Given the description of an element on the screen output the (x, y) to click on. 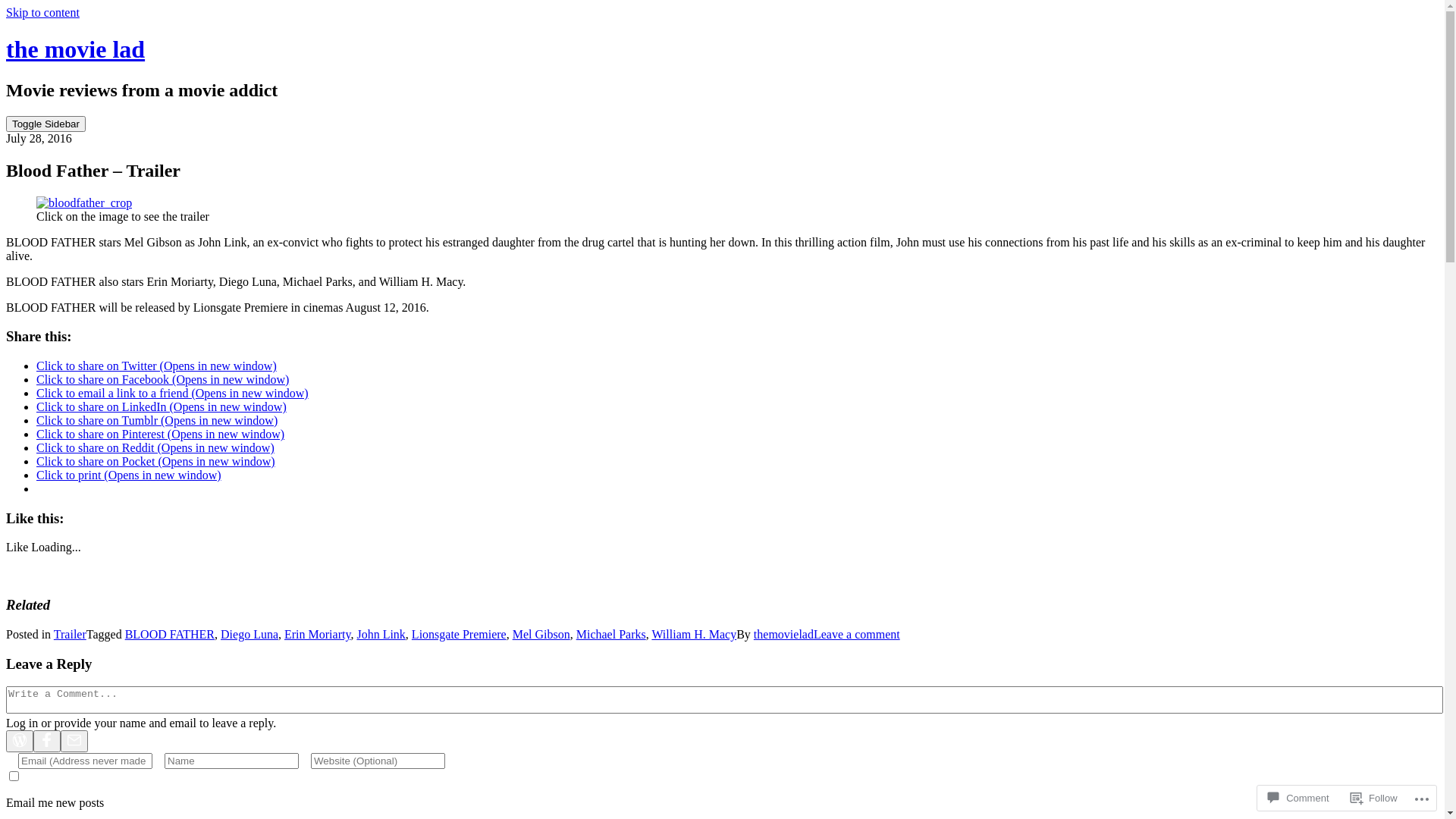
Click to share on Twitter (Opens in new window) Element type: text (156, 365)
the movie lad Element type: text (75, 48)
Click to share on Pocket (Opens in new window) Element type: text (155, 461)
Click to share on LinkedIn (Opens in new window) Element type: text (161, 406)
themovielad Element type: text (783, 633)
Diego Luna Element type: text (249, 633)
Trailer Element type: text (69, 633)
Click to share on Reddit (Opens in new window) Element type: text (155, 447)
Follow Element type: text (1373, 797)
Mel Gibson Element type: text (541, 633)
Click to print (Opens in new window) Element type: text (128, 474)
Erin Moriarty Element type: text (317, 633)
Michael Parks Element type: text (611, 633)
Leave a comment Element type: text (856, 633)
Click to share on Tumblr (Opens in new window) Element type: text (156, 420)
Comment Element type: text (1297, 797)
Lionsgate Premiere Element type: text (458, 633)
John Link Element type: text (380, 633)
Click to email a link to a friend (Opens in new window) Element type: text (172, 392)
Toggle Sidebar Element type: text (45, 123)
Click to share on Pinterest (Opens in new window) Element type: text (160, 433)
Click to share on Facebook (Opens in new window) Element type: text (162, 379)
William H. Macy Element type: text (693, 633)
Skip to content Element type: text (42, 12)
BLOOD FATHER Element type: text (169, 633)
